Given the description of an element on the screen output the (x, y) to click on. 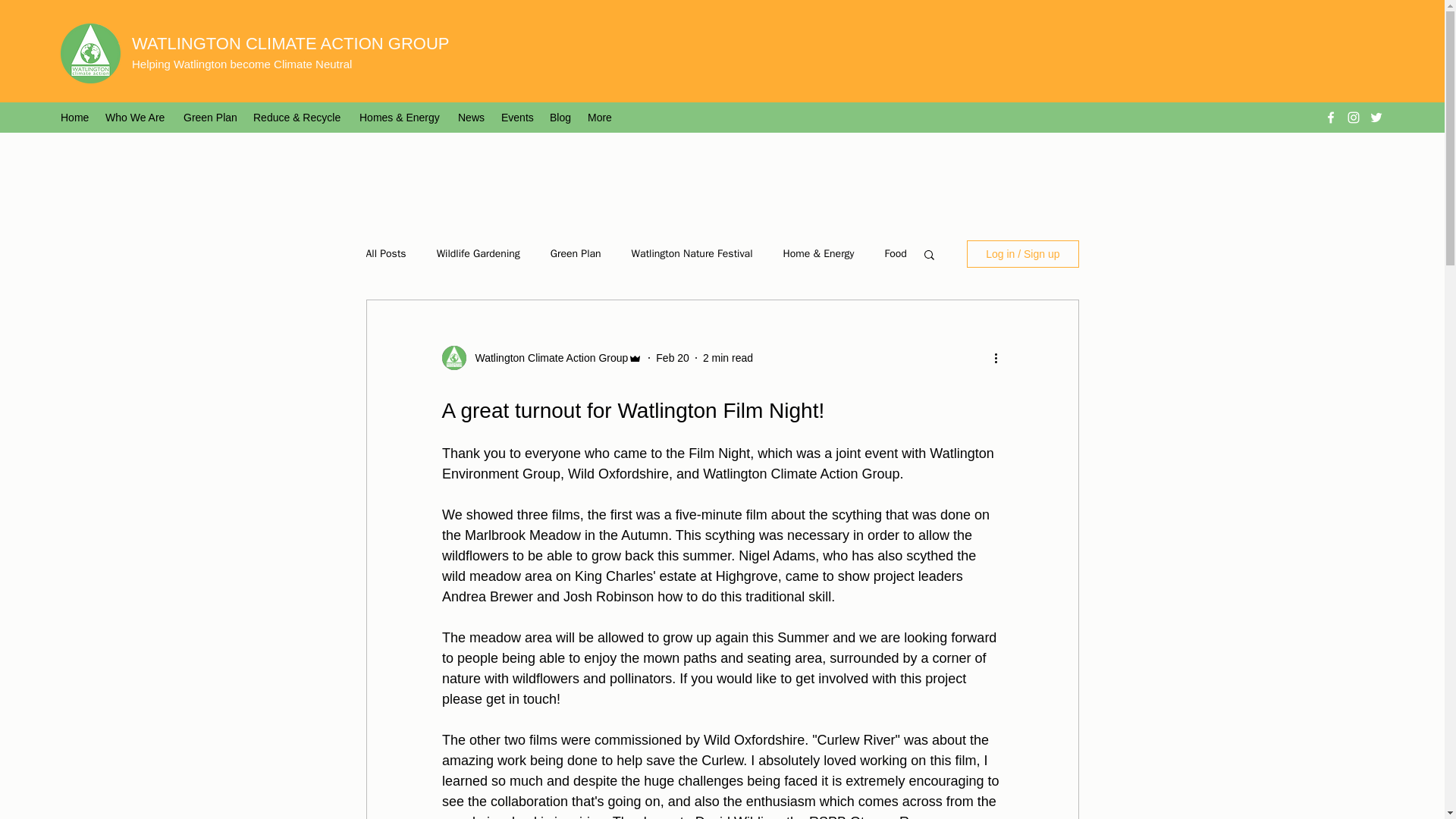
Blog (560, 117)
Wildlife Gardening (477, 254)
Green Plan (211, 117)
Watlington Nature Festival (691, 254)
Feb 20 (672, 357)
2 min read (727, 357)
Food (894, 254)
Who We Are (136, 117)
WATLINGTON CLIMATE ACTION GROUP (290, 43)
Watlington Climate Action Group (546, 358)
